Given the description of an element on the screen output the (x, y) to click on. 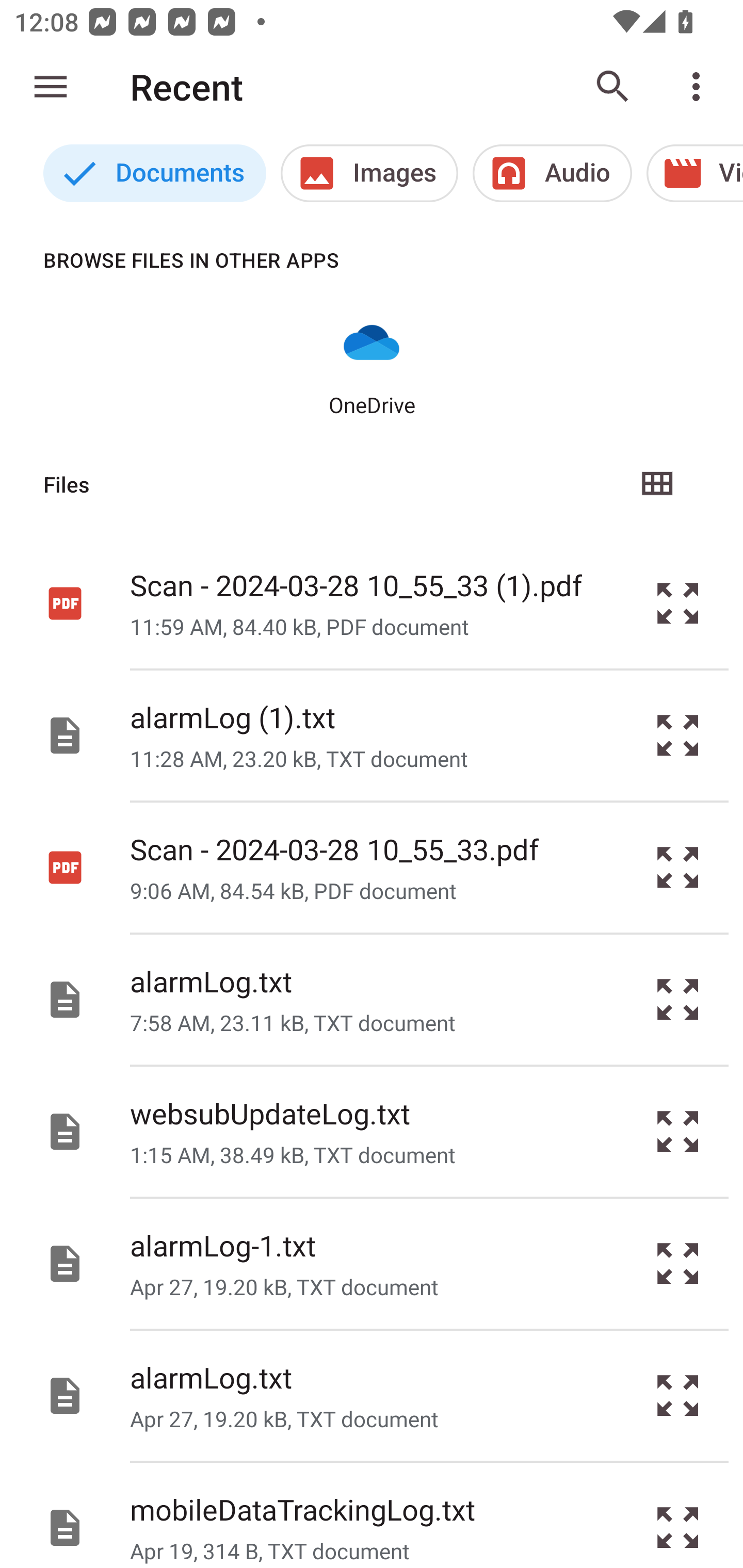
Show roots (50, 86)
Search (612, 86)
More options (699, 86)
Documents (154, 173)
Images (369, 173)
Audio (552, 173)
OneDrive (371, 365)
Grid view (655, 484)
Preview the file alarmLog (1).txt (677, 736)
Preview the file Scan - 2024-03-28 10_55_33.pdf (677, 867)
Preview the file alarmLog.txt (677, 999)
Preview the file websubUpdateLog.txt (677, 1131)
Preview the file alarmLog-1.txt (677, 1262)
Preview the file alarmLog.txt (677, 1396)
Preview the file mobileDataTrackingLog.txt (677, 1515)
